Given the description of an element on the screen output the (x, y) to click on. 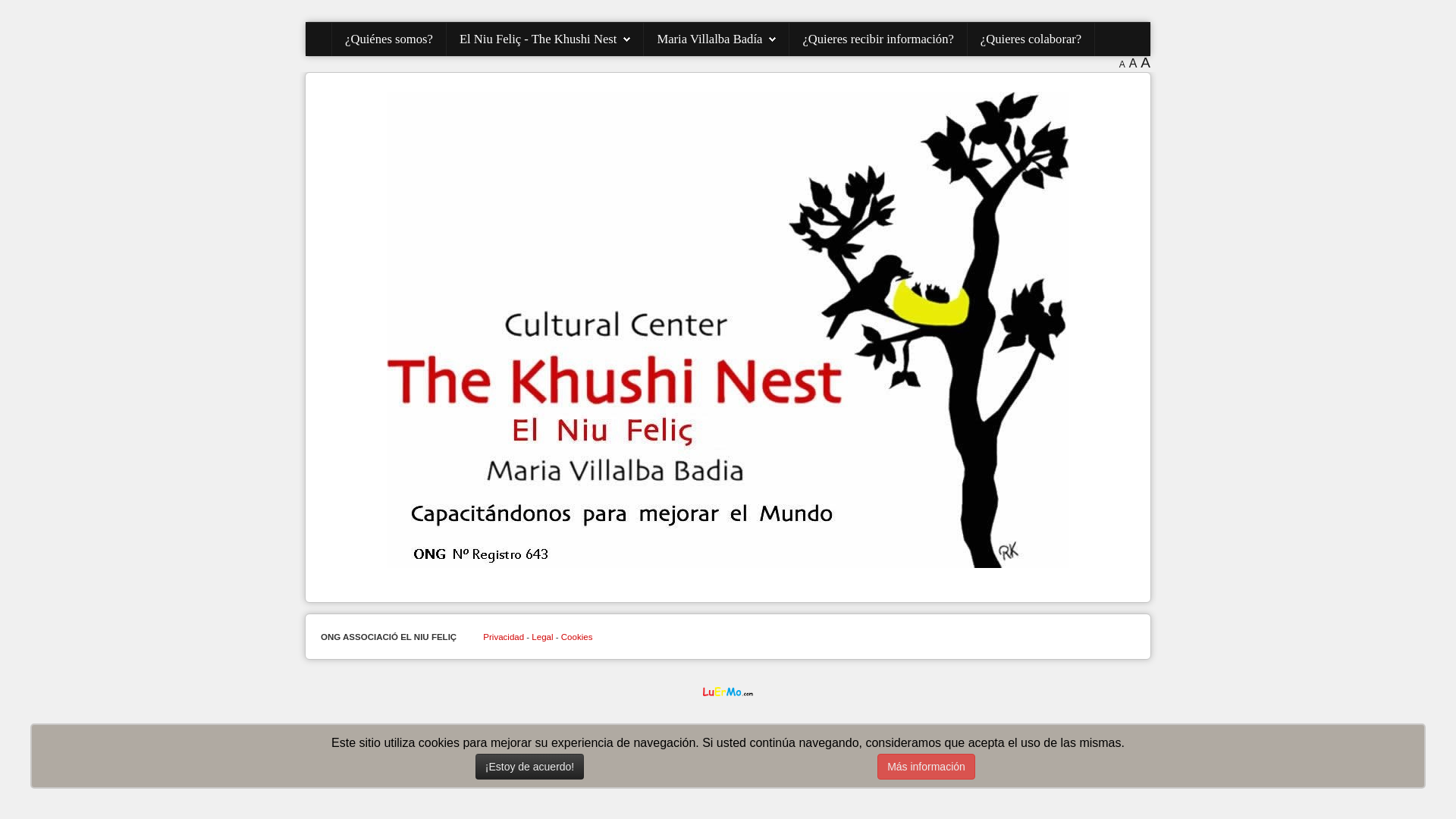
A Element type: text (1122, 64)
Legal Element type: text (541, 636)
A Element type: text (1133, 62)
LuErMo Element type: hover (727, 691)
A Element type: text (1145, 62)
Privacidad Element type: text (503, 636)
Cookies Element type: text (577, 636)
